Given the description of an element on the screen output the (x, y) to click on. 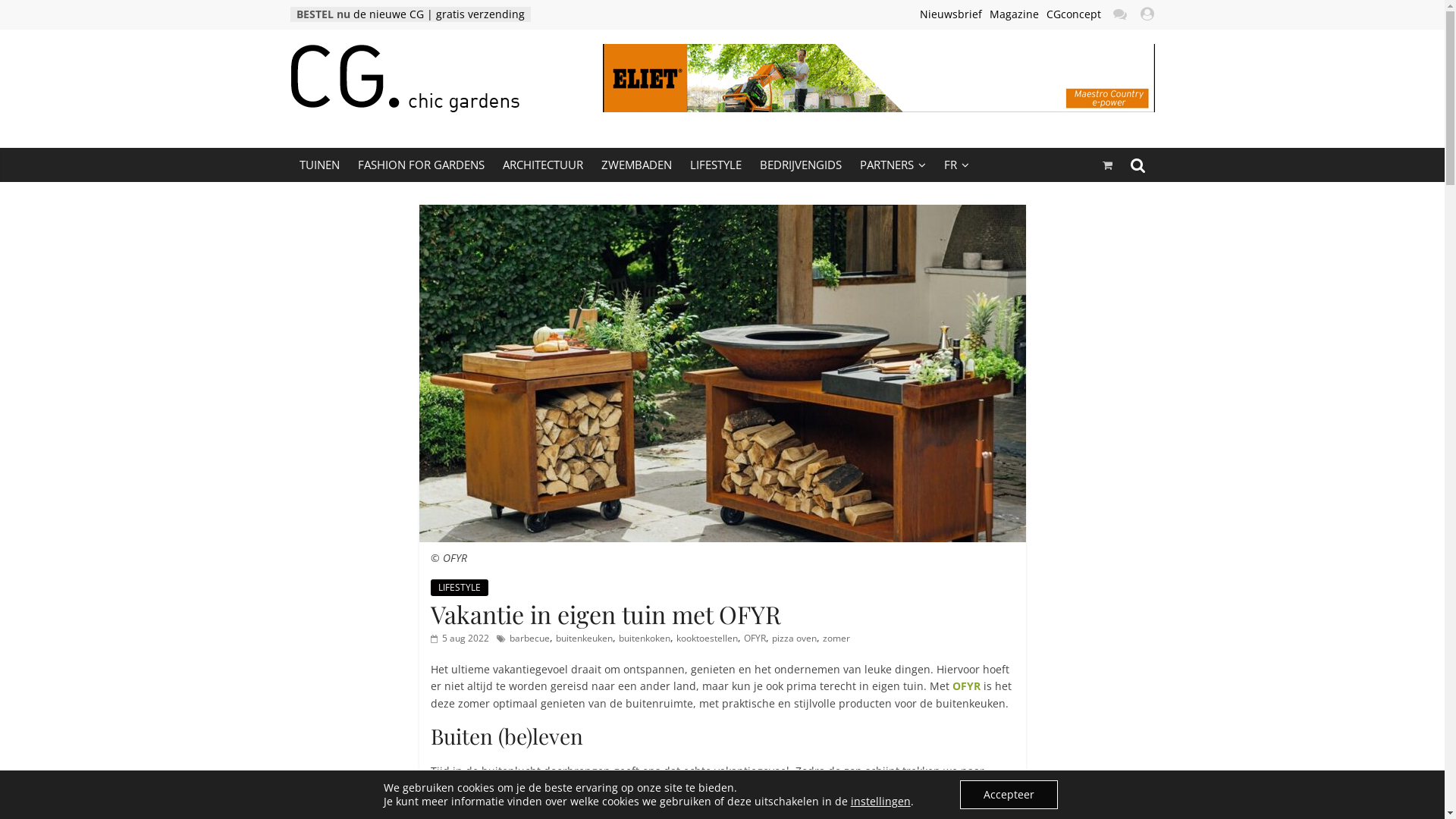
OFYR Element type: text (754, 637)
buitenkeuken Element type: text (583, 637)
buitenkoken Element type: text (644, 637)
ELIET Maestro e-power Element type: hover (878, 77)
FR Element type: text (955, 164)
FASHION FOR GARDENS Element type: text (420, 164)
zomer Element type: text (835, 637)
PARTNERS Element type: text (892, 164)
TUINEN Element type: text (318, 164)
kooktoestellen Element type: text (706, 637)
LIFESTYLE Element type: text (715, 164)
pizza oven Element type: text (793, 637)
barbecue Element type: text (529, 637)
Chic Gardens Element type: text (354, 119)
instellingen Element type: text (880, 801)
CGconcept Element type: text (1073, 14)
5 aug 2022 Element type: text (459, 637)
de nieuwe CG | gratis verzending Element type: text (438, 13)
BEDRIJVENGIDS Element type: text (800, 164)
OFYR Element type: text (966, 685)
Magazine Element type: text (1013, 14)
ARCHITECTUUR Element type: text (541, 164)
ZWEMBADEN Element type: text (635, 164)
Accepteer Element type: text (1008, 794)
Nieuwsbrief Element type: text (950, 14)
LIFESTYLE Element type: text (459, 587)
